Given the description of an element on the screen output the (x, y) to click on. 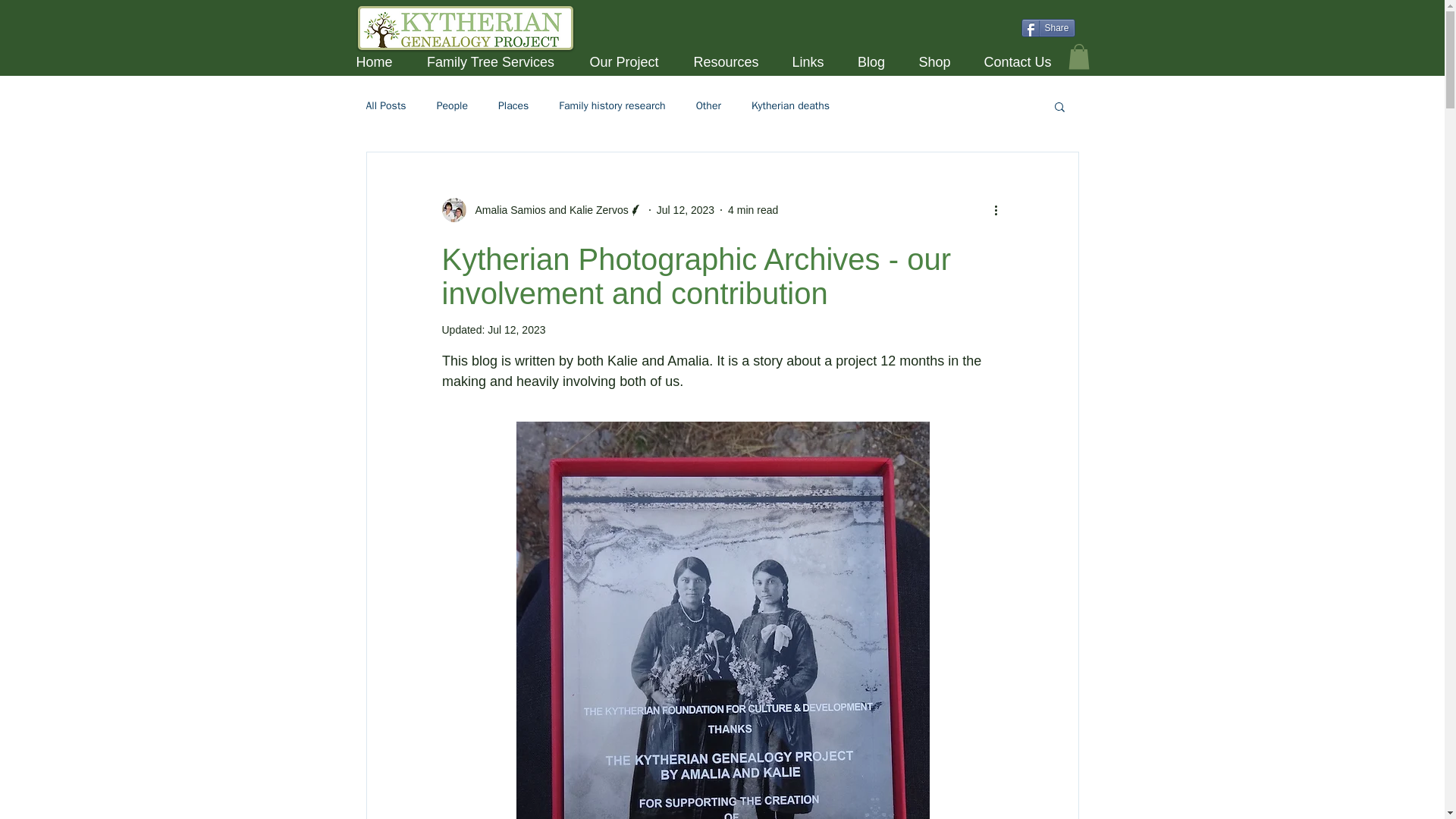
All Posts (385, 106)
Kytherian deaths (790, 106)
Family history research (612, 106)
Jul 12, 2023 (685, 209)
Home (373, 61)
Share (1047, 27)
Resources (725, 61)
4 min read (752, 209)
Jul 12, 2023 (515, 329)
Family Tree Services (489, 61)
People (451, 106)
Amalia Samios and Kalie Zervos (546, 210)
Amalia Samios and Kalie Zervos (541, 209)
Other (707, 106)
Shop (935, 61)
